Given the description of an element on the screen output the (x, y) to click on. 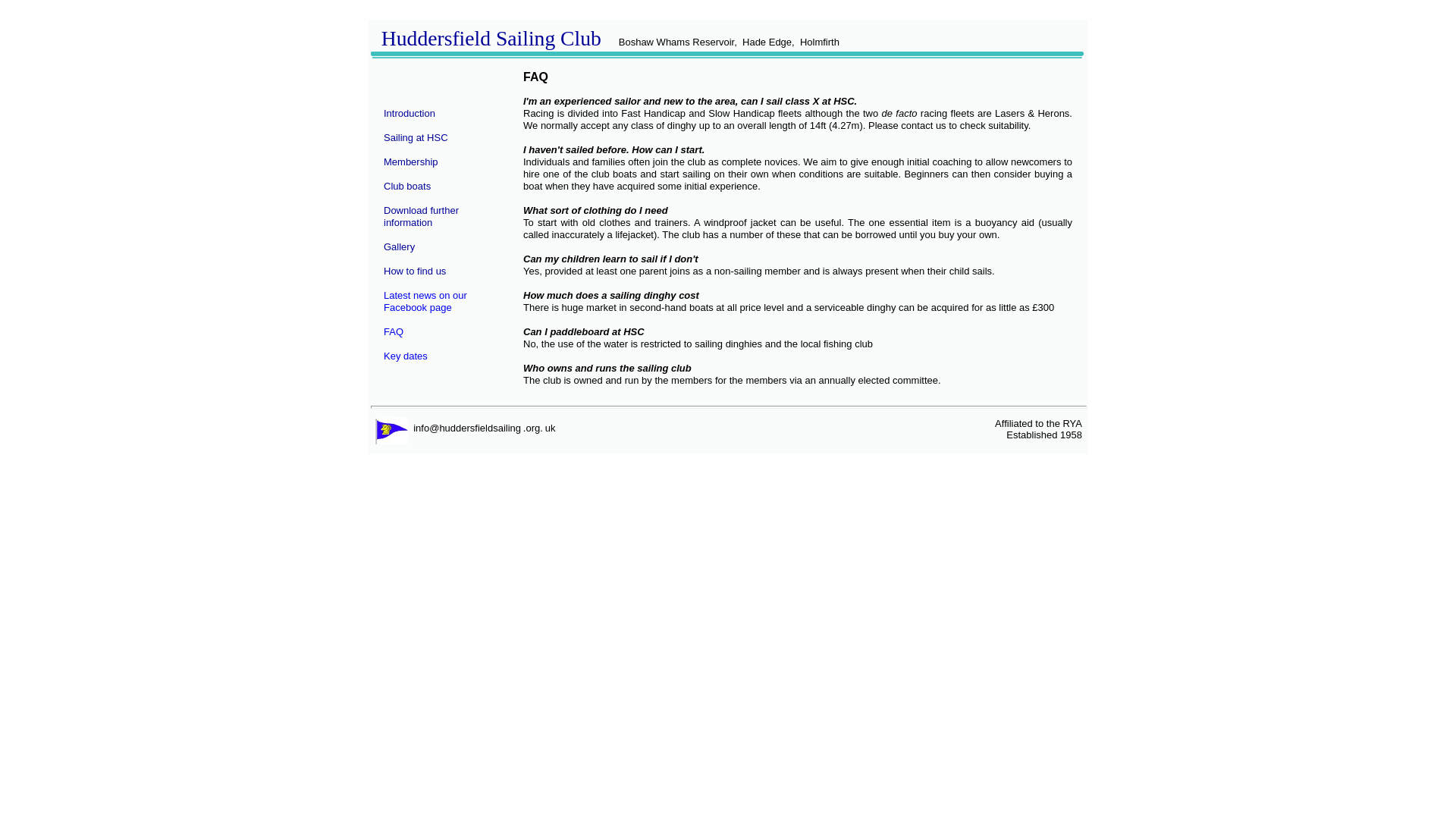
How to find us (414, 270)
Gallery (399, 246)
FAQ (393, 331)
Key dates (406, 361)
Download further information (421, 216)
Membership (411, 161)
Latest news on our Facebook page (425, 300)
Introduction (409, 112)
Club boats (407, 185)
Sailing at HSC (416, 136)
